Given the description of an element on the screen output the (x, y) to click on. 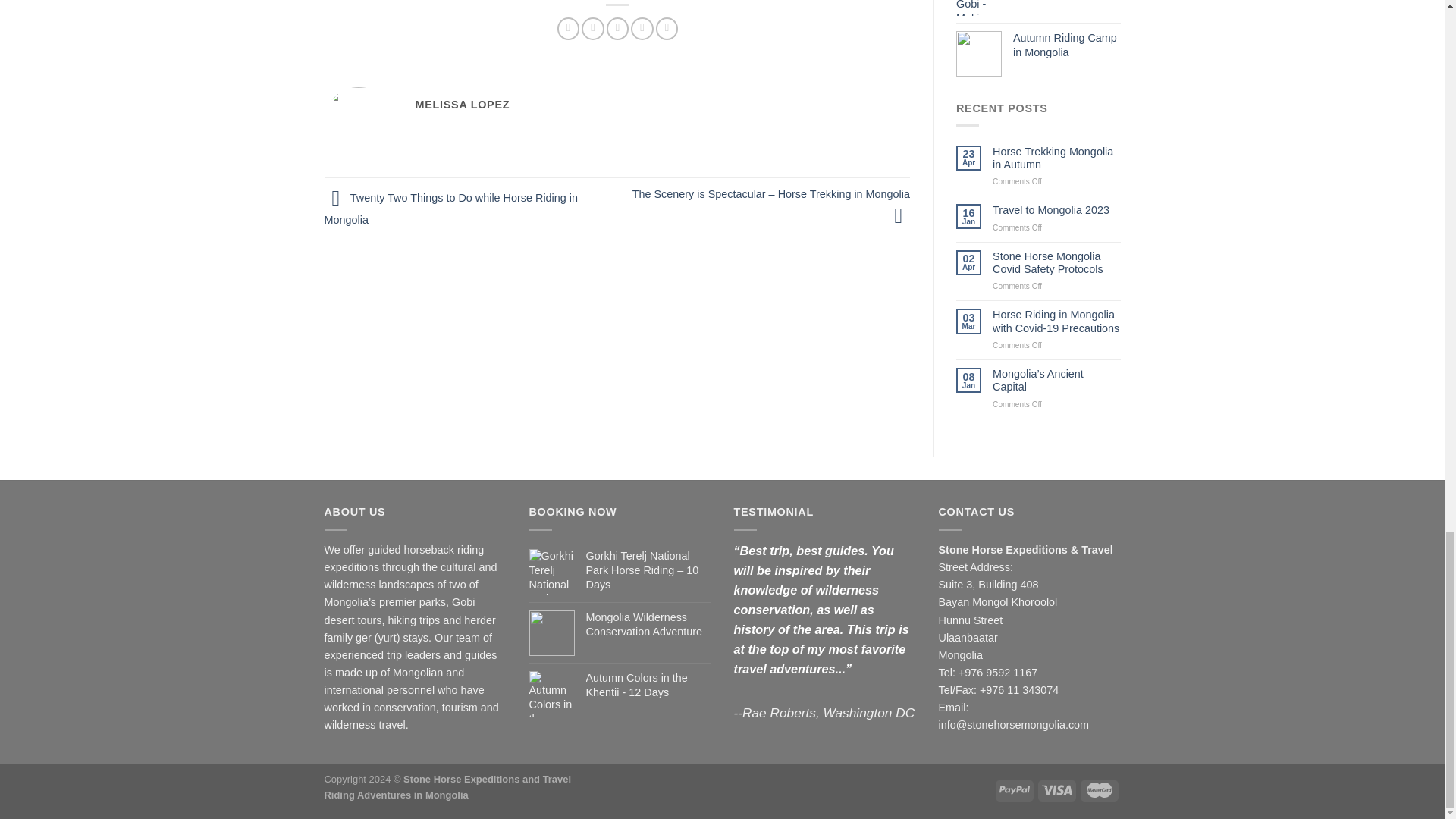
Share on Twitter (592, 28)
Share on Tumblr (667, 28)
Share on Facebook (568, 28)
Email to a Friend (617, 28)
Pin on Pinterest (641, 28)
